Given the description of an element on the screen output the (x, y) to click on. 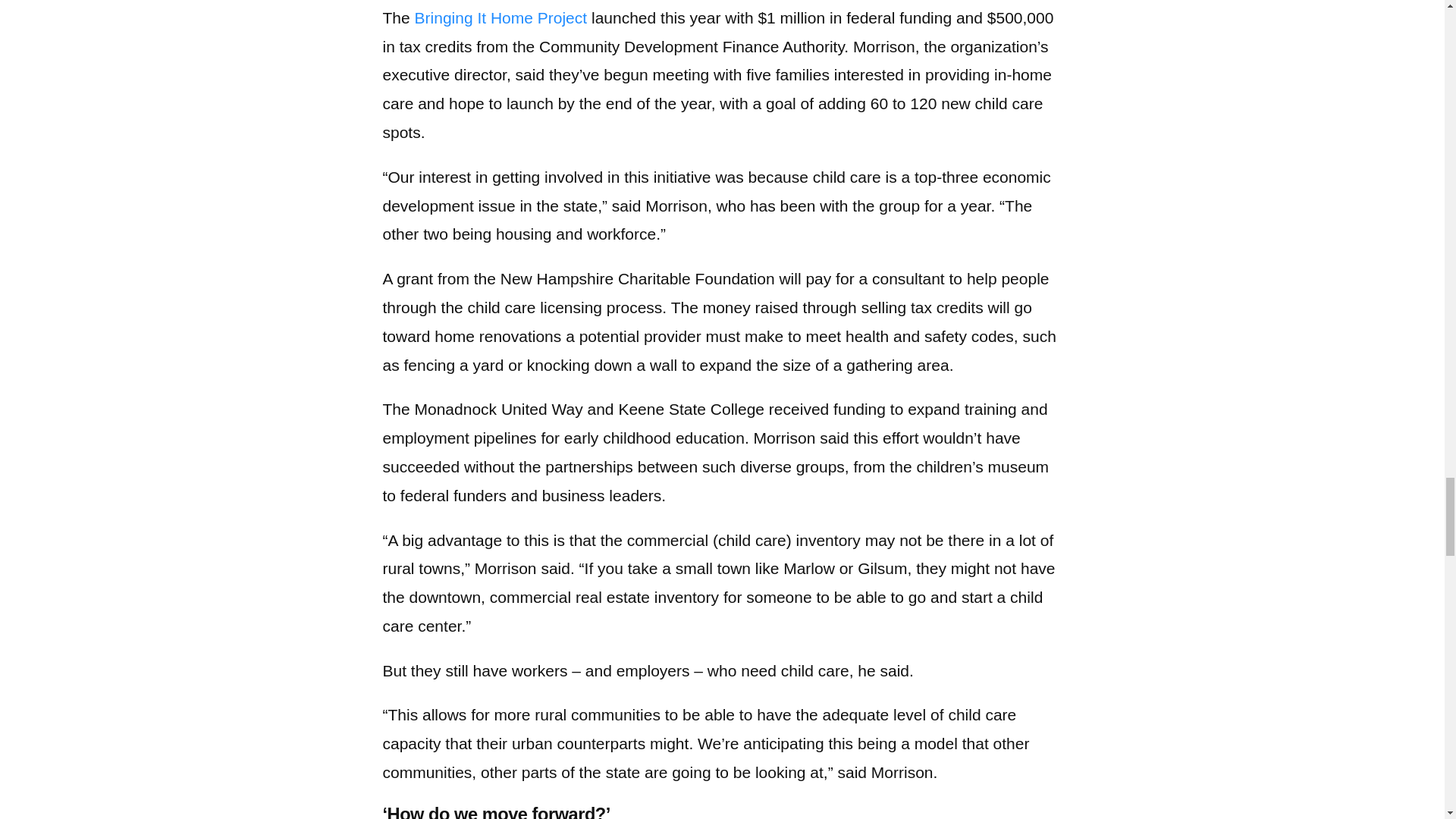
Bringing It Home Project (501, 17)
